Given the description of an element on the screen output the (x, y) to click on. 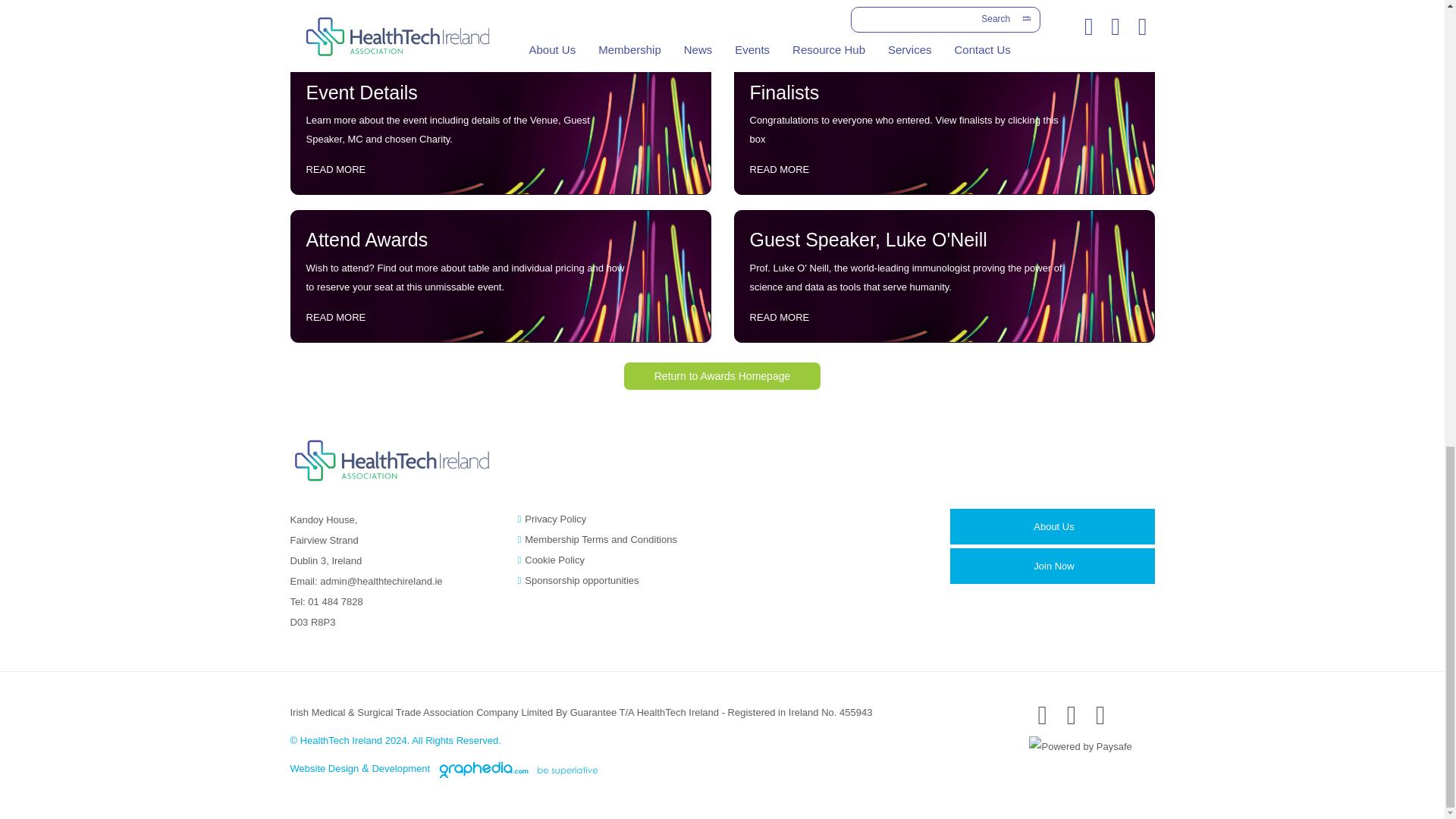
Return to Awards Homepage (722, 375)
Membership Terms and Conditions (600, 539)
01 484 7828 (334, 601)
Privacy Policy (555, 518)
